Given the description of an element on the screen output the (x, y) to click on. 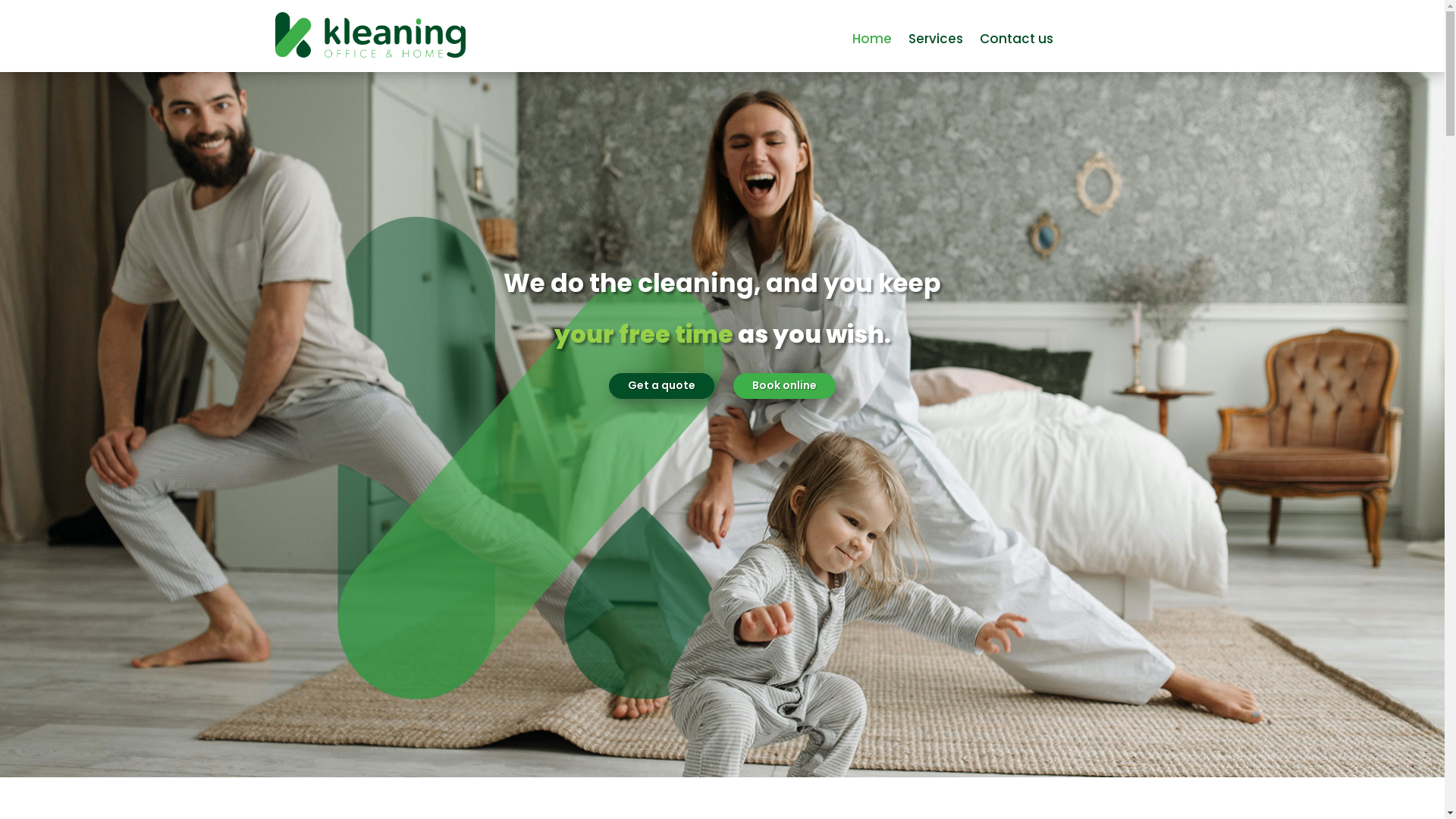
Get a quote Element type: text (661, 385)
Book online Element type: text (784, 385)
Home Element type: text (871, 41)
Contact us Element type: text (1016, 41)
Services Element type: text (935, 41)
Kleaning home office Element type: hover (369, 35)
